Given the description of an element on the screen output the (x, y) to click on. 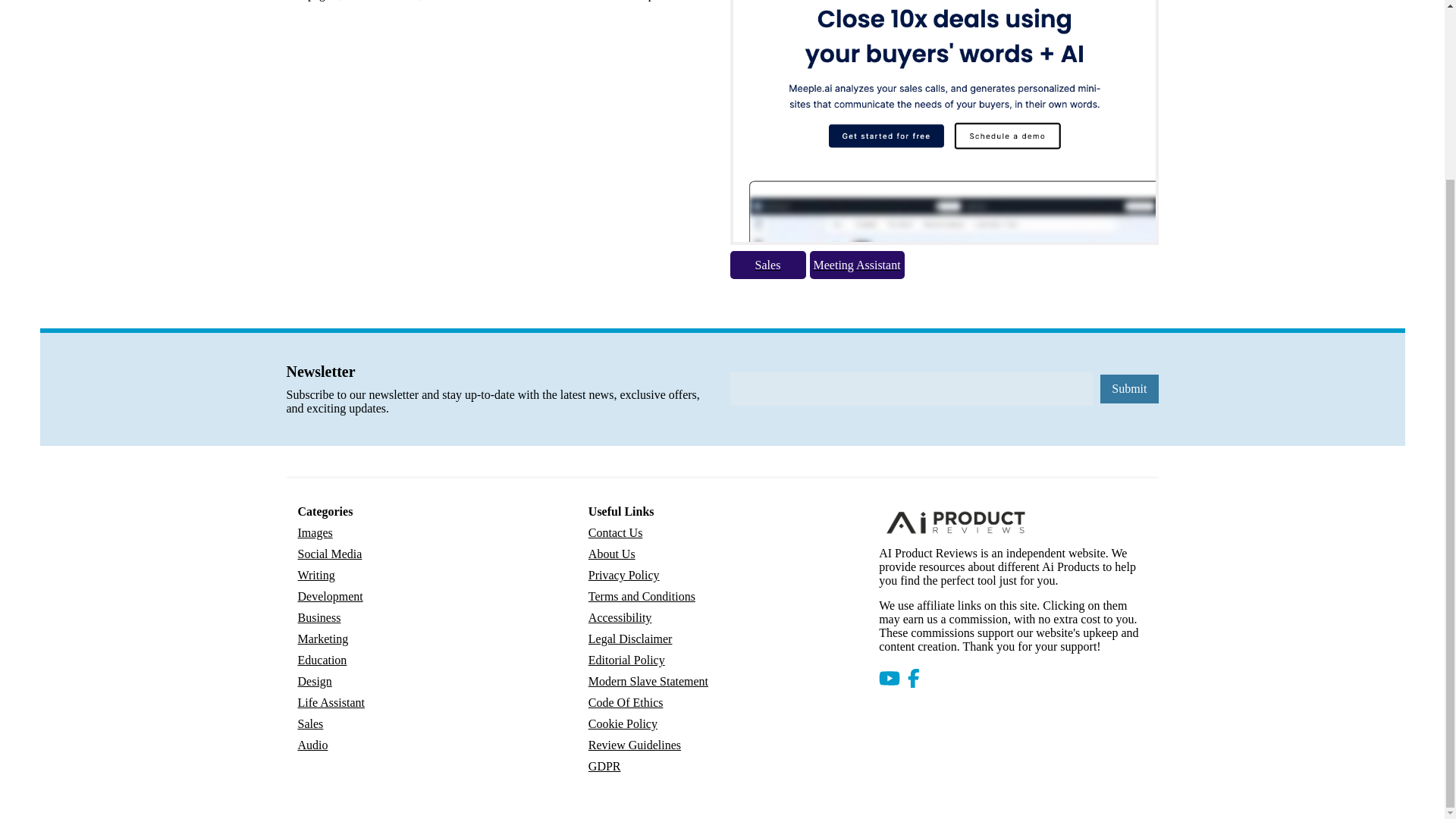
Images (314, 532)
GDPR (604, 766)
Marketing (322, 639)
Social Media (329, 554)
Development (329, 596)
Review Guidelines (634, 744)
Business (318, 617)
Contact Us (615, 532)
About Us (611, 554)
Code Of Ethics (625, 702)
Accessibility (620, 617)
Sales (310, 723)
Design (314, 681)
Modern Slave Statement (647, 681)
Writing (315, 575)
